Given the description of an element on the screen output the (x, y) to click on. 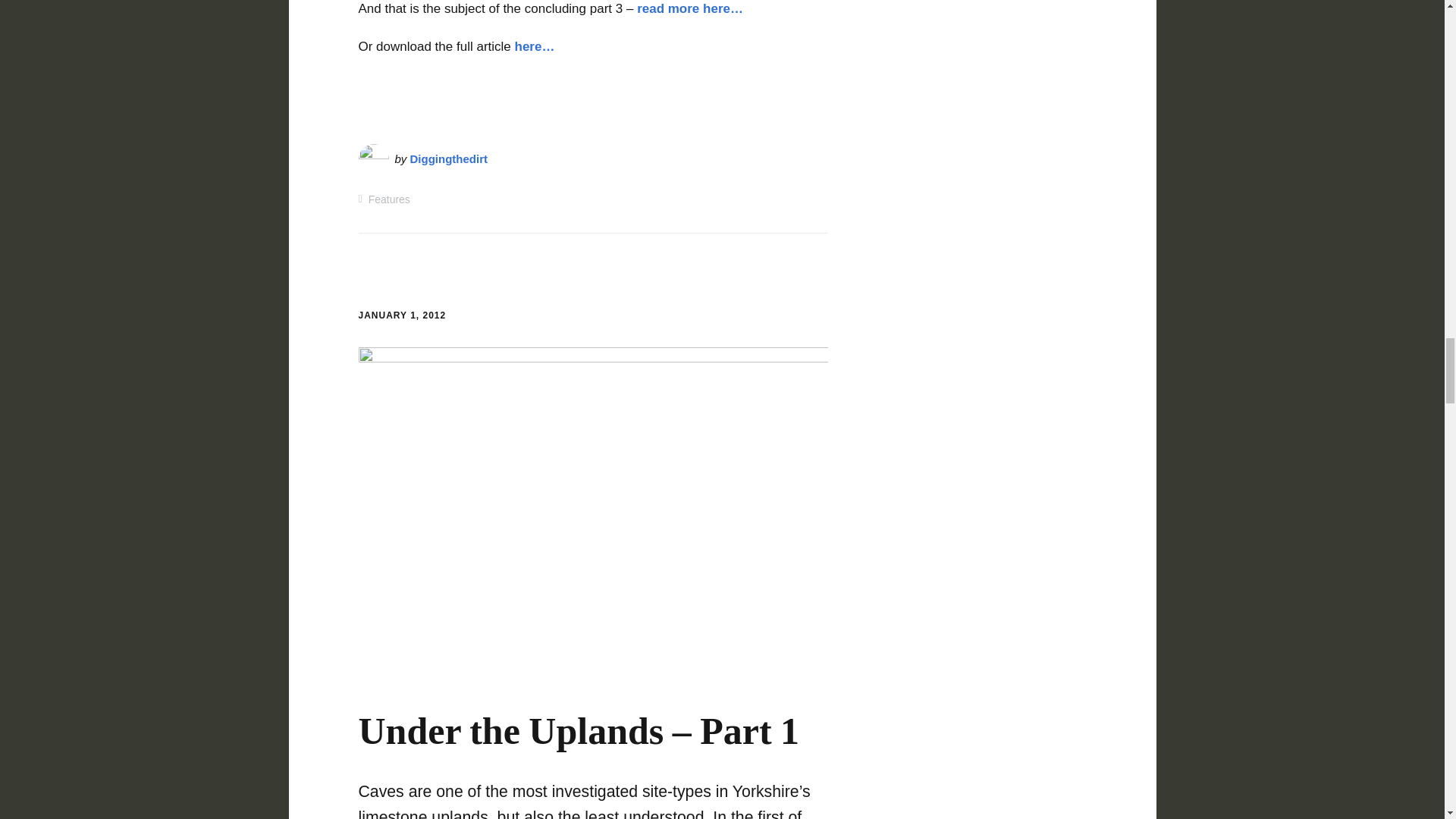
JANUARY 1, 2012 (401, 315)
Diggingthedirt (448, 158)
Features (389, 199)
